Given the description of an element on the screen output the (x, y) to click on. 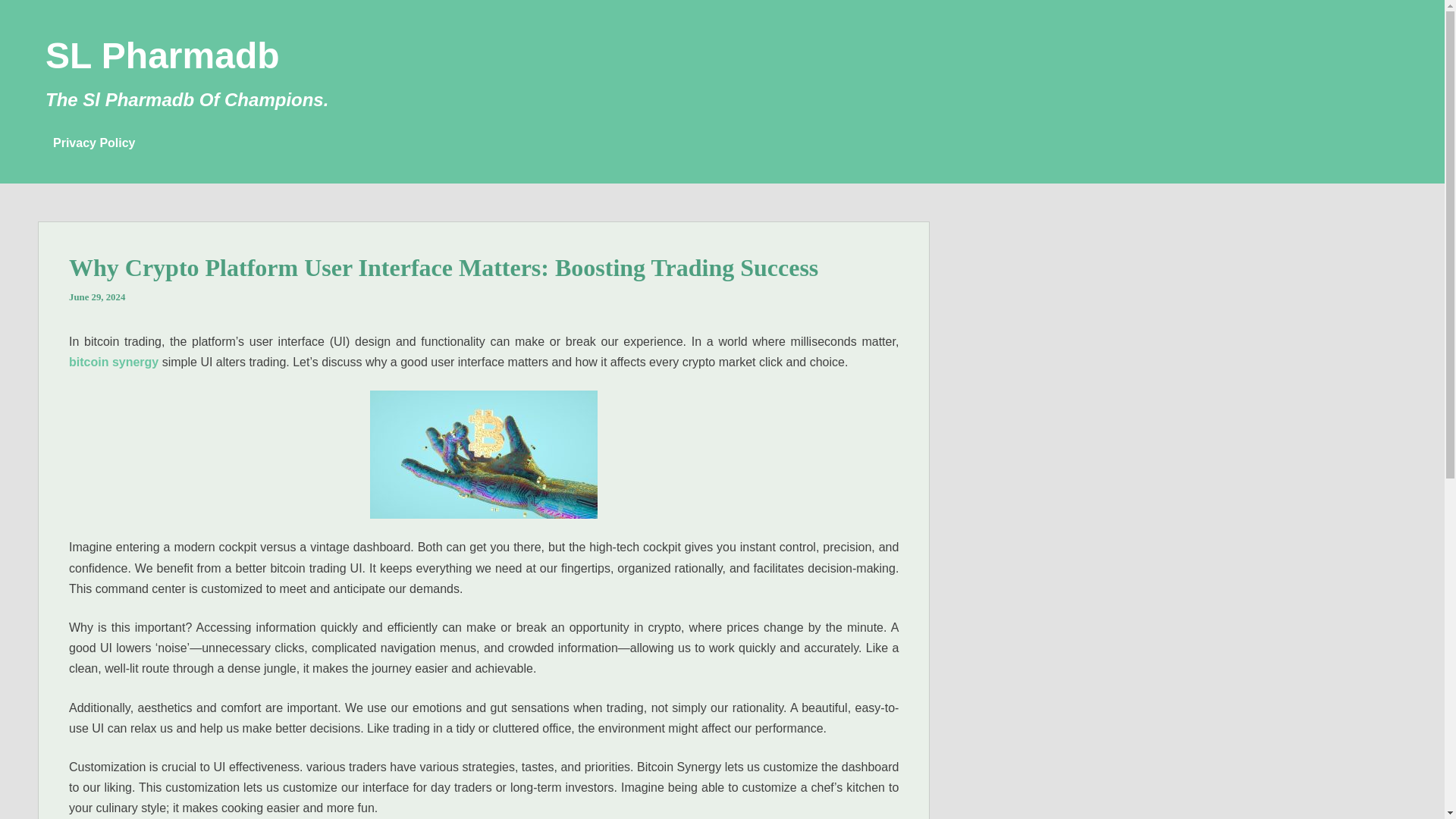
SL Pharmadb (162, 56)
bitcoin synergy (113, 361)
Privacy Policy (93, 142)
June 29, 2024 (96, 296)
